Given the description of an element on the screen output the (x, y) to click on. 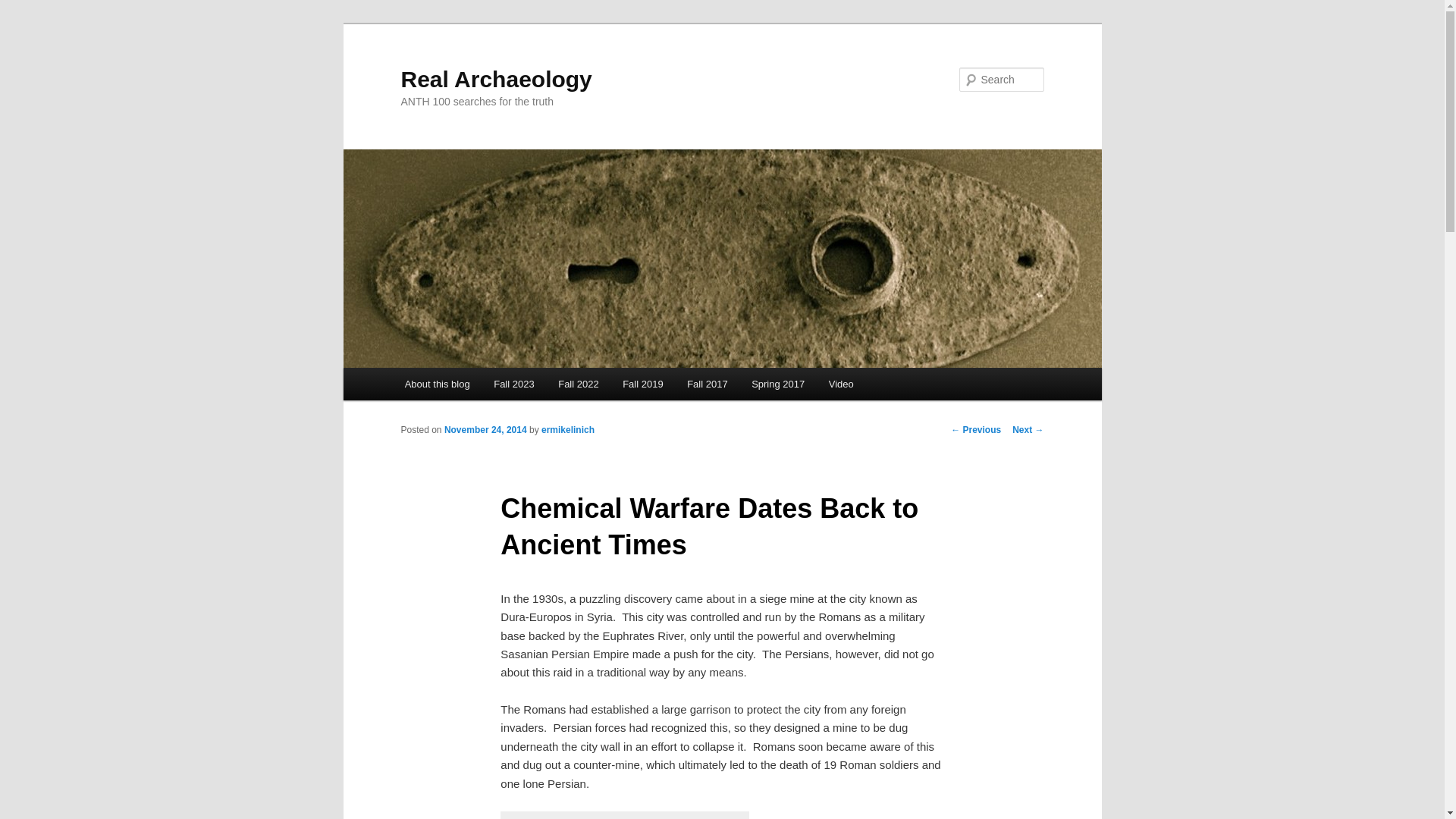
Search (24, 8)
Video (841, 383)
Fall 2019 (642, 383)
Fall 2017 (707, 383)
4:21 pm (485, 429)
Real Archaeology (495, 78)
View all posts by ermikelinich (567, 429)
About this blog (437, 383)
Fall 2022 (578, 383)
